Given the description of an element on the screen output the (x, y) to click on. 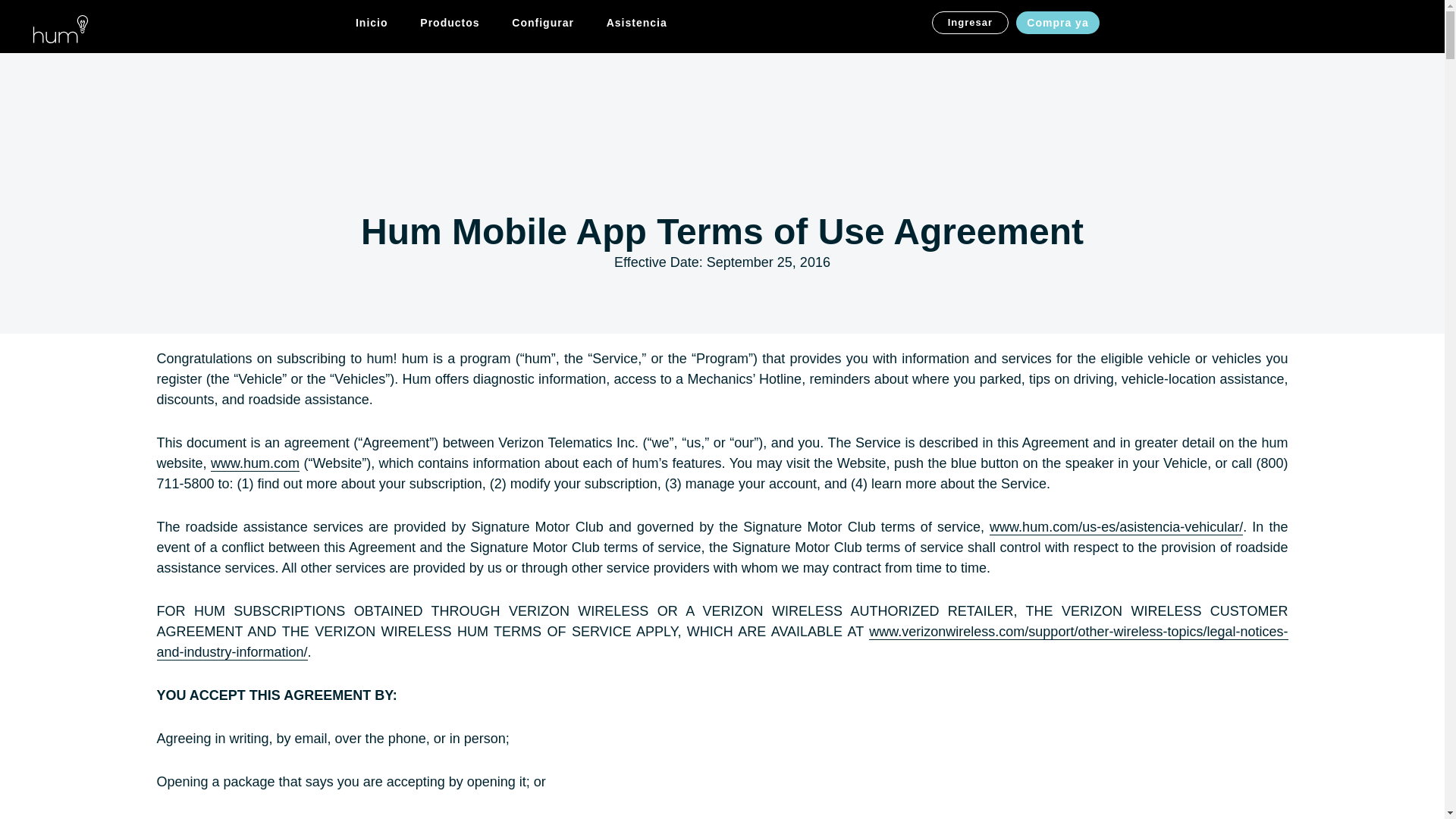
Configurar (542, 26)
Inicio (371, 26)
Ingresar (969, 22)
www.hum.com (255, 463)
Compra ya (1057, 22)
Productos (449, 26)
Asistencia (636, 26)
